Given the description of an element on the screen output the (x, y) to click on. 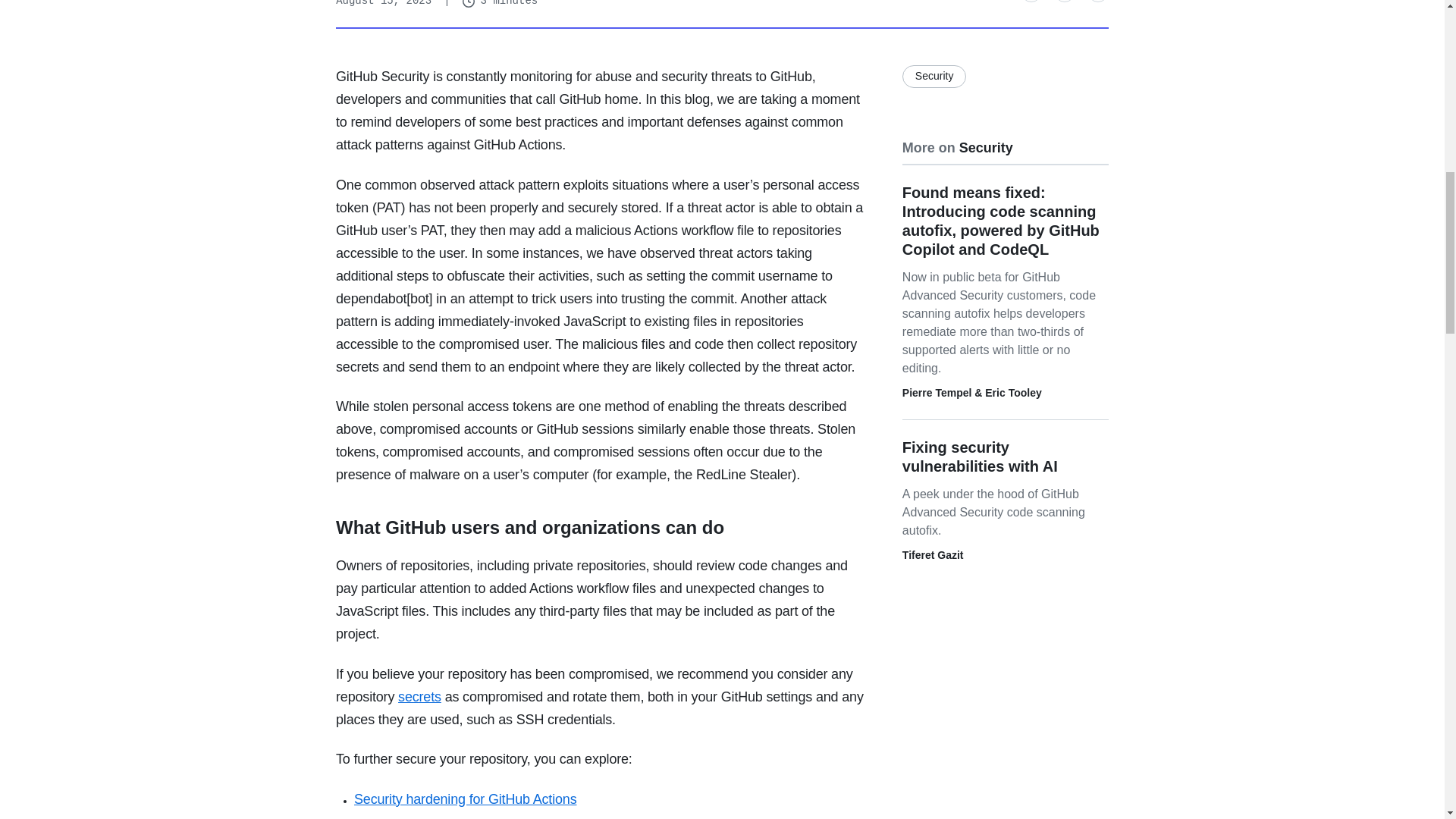
Posts by Tiferet Gazit (932, 554)
Posts by Pierre Tempel (937, 392)
Posts by Eric Tooley (1013, 392)
